Given the description of an element on the screen output the (x, y) to click on. 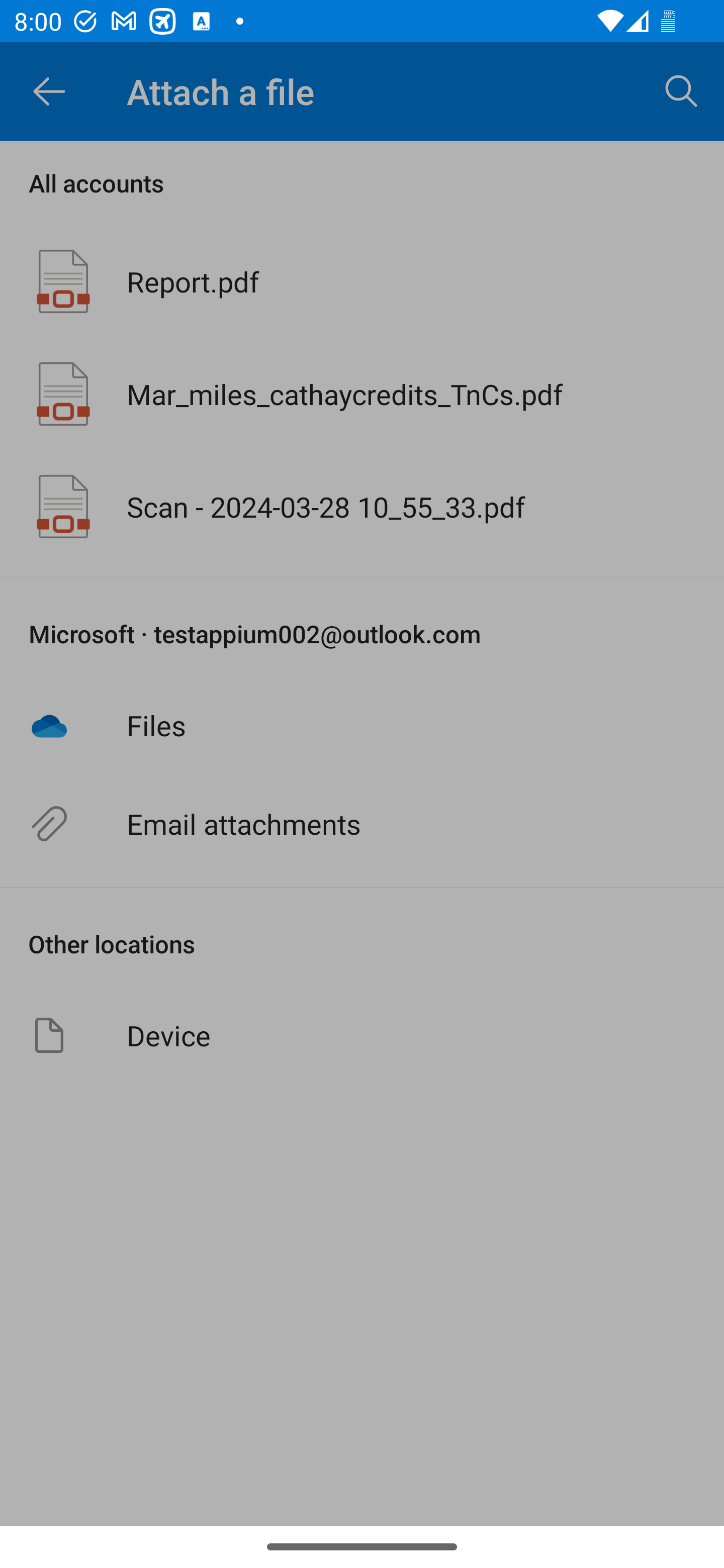
Navigate up (49, 91)
Search button (681, 90)
Report.pdf (362, 281)
Mar_miles_cathaycredits_TnCs.pdf (362, 393)
Scan - 2024-03-28 10_55_33.pdf (362, 506)
Files (362, 724)
Email attachments (362, 823)
Device (362, 1035)
